Given the description of an element on the screen output the (x, y) to click on. 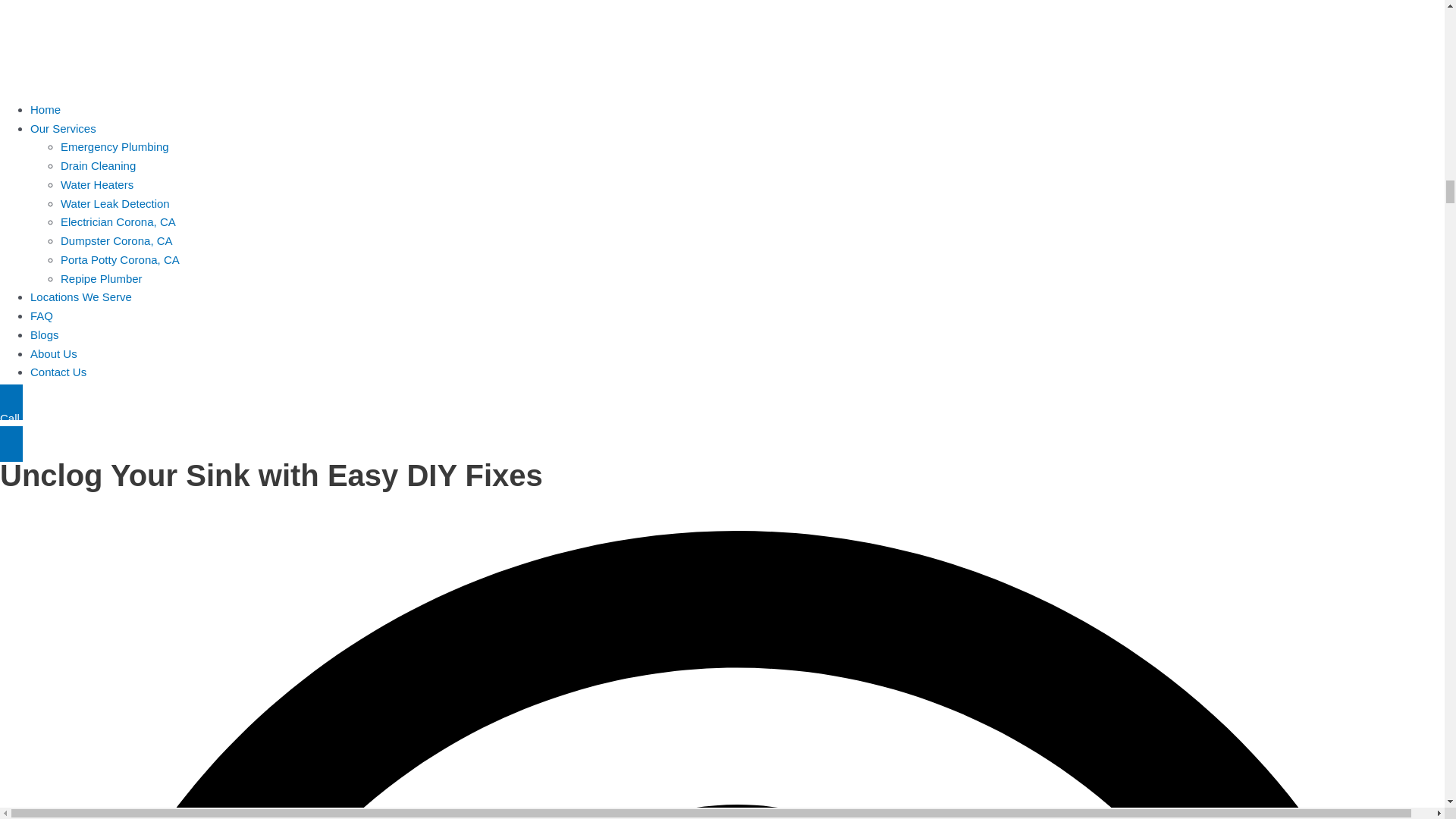
FAQ (41, 315)
Dumpster Corona, CA (117, 240)
Repipe Plumber (101, 278)
Electrician Corona, CA (118, 221)
Water Leak Detection (115, 203)
Locations We Serve (81, 296)
Porta Potty Corona, CA (120, 259)
About Us (53, 353)
Home (45, 109)
Our Services (63, 128)
